Given the description of an element on the screen output the (x, y) to click on. 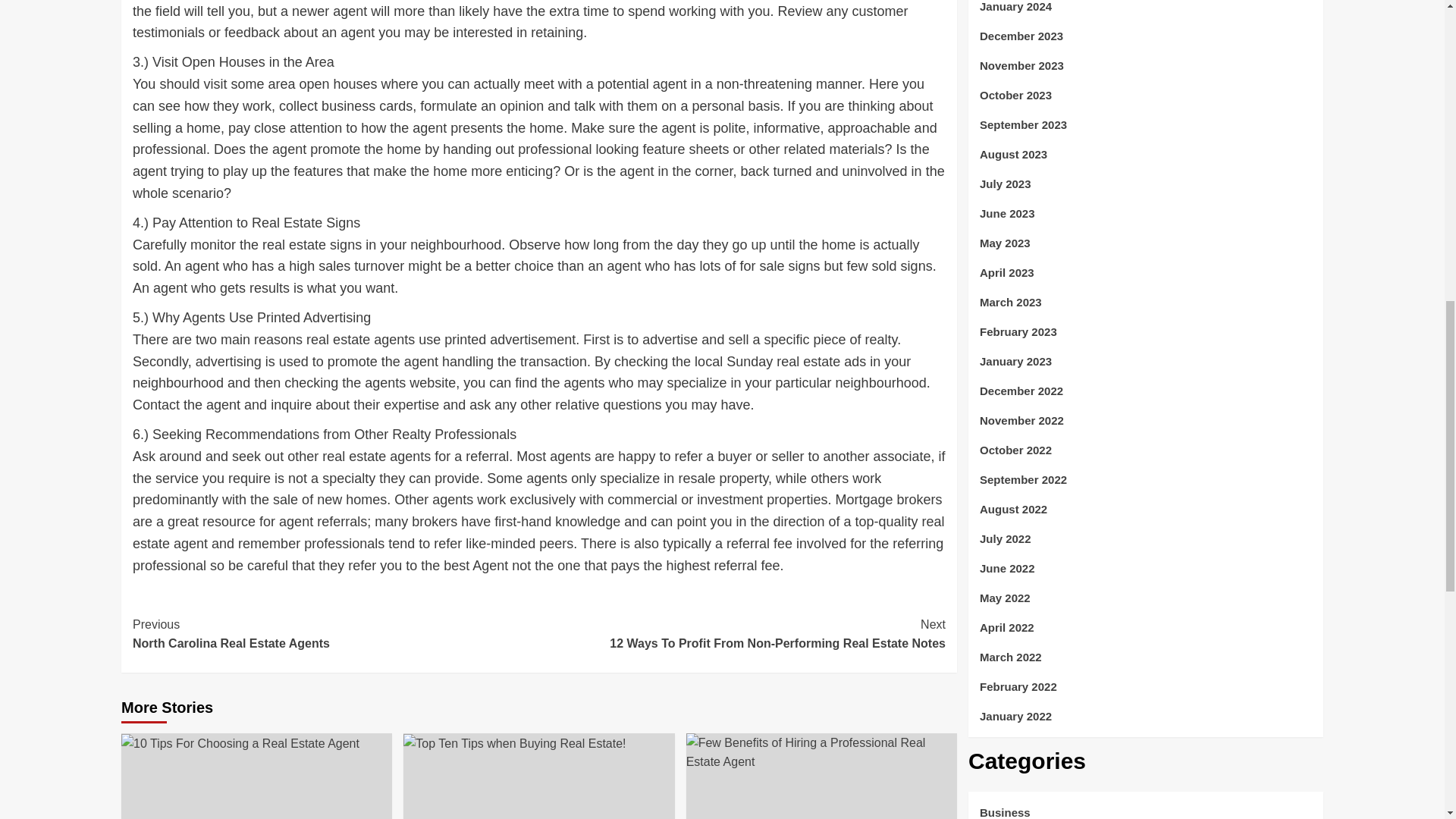
Few Benefits of Hiring a Professional Real Estate Agent (335, 634)
10 Tips For Choosing a Real Estate Agent (741, 634)
Top Ten Tips when Buying Real Estate! (820, 752)
